Given the description of an element on the screen output the (x, y) to click on. 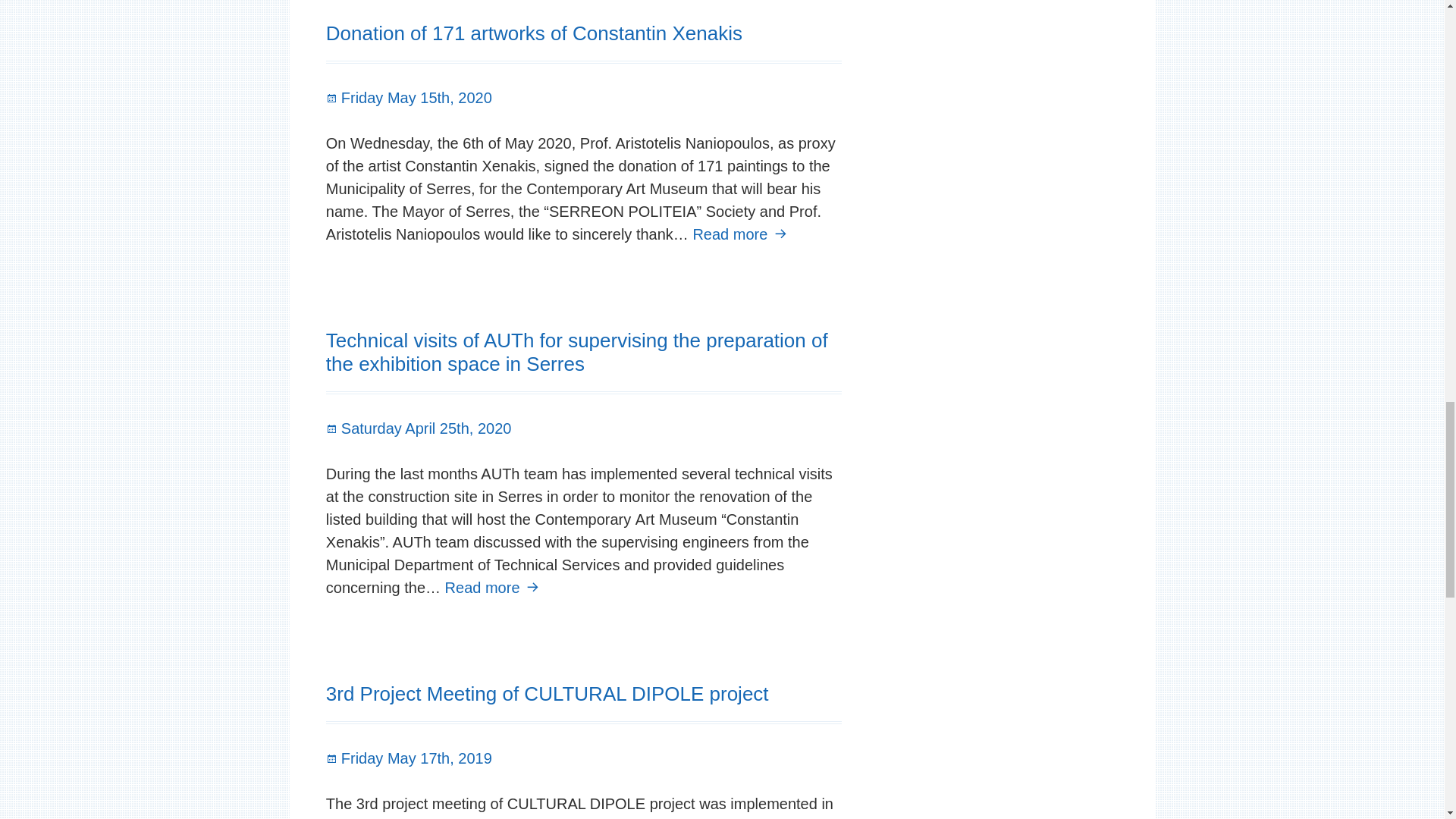
Friday May 17th, 2019 (409, 758)
Friday May 15th, 2020 (409, 97)
Saturday April 25th, 2020 (419, 428)
Donation of 171 artworks of Constantin Xenakis (741, 234)
3rd Project Meeting of CULTURAL DIPOLE project (534, 33)
